Given the description of an element on the screen output the (x, y) to click on. 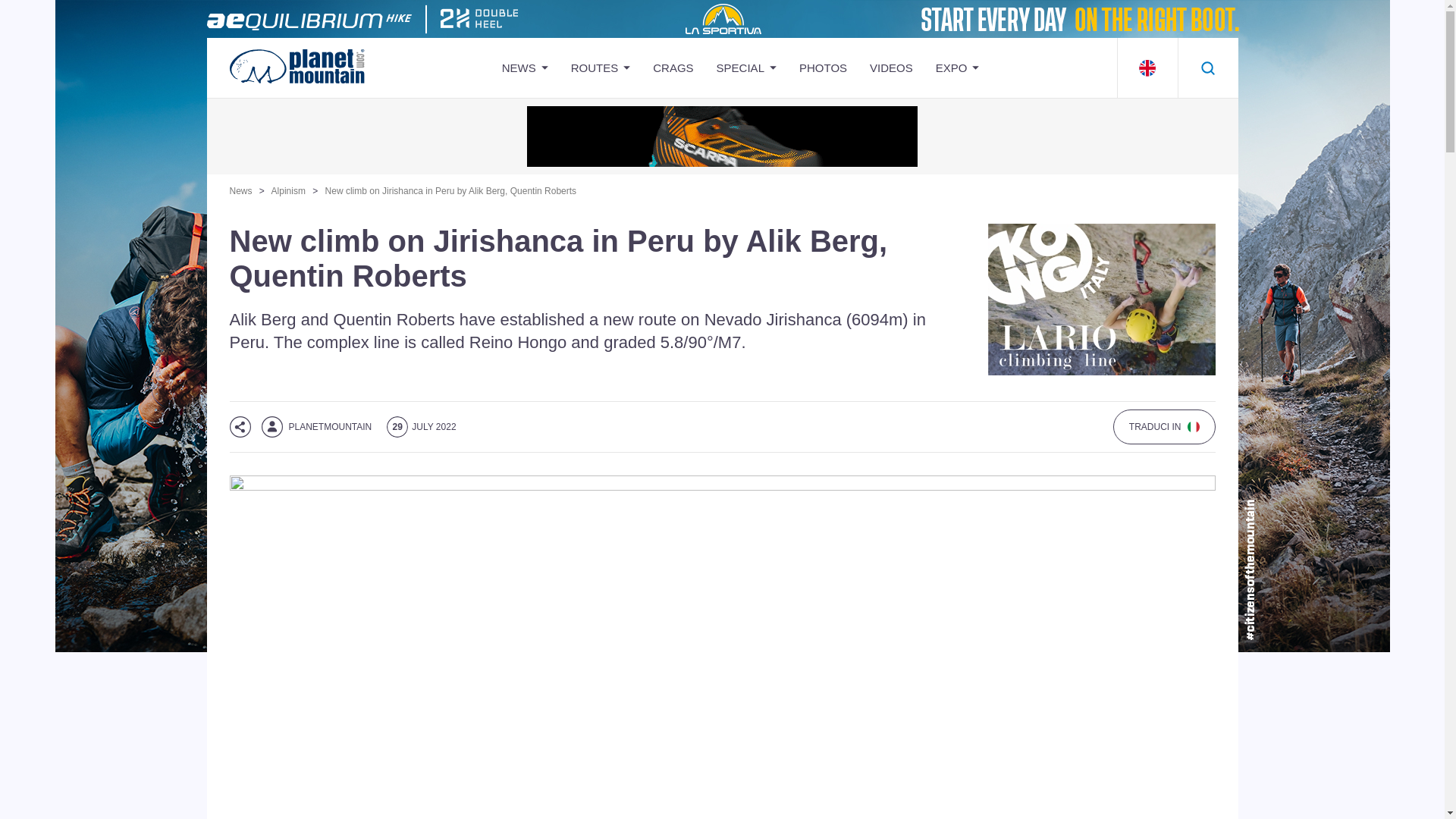
Rock climbs (657, 117)
Trekking (657, 356)
Mountain huts (803, 198)
Companies (1022, 117)
Products (1022, 158)
News (589, 117)
Classic mountaineering, ice climbing, mixed climbing (657, 177)
Via ferrata (657, 396)
Trekking (657, 356)
All routes (657, 436)
Classic mountaineering, ice climbing, mixed climbing (657, 177)
Mountain guides news (589, 238)
Company news (589, 198)
Mountain huts (803, 117)
Mountain huts (803, 117)
